Given the description of an element on the screen output the (x, y) to click on. 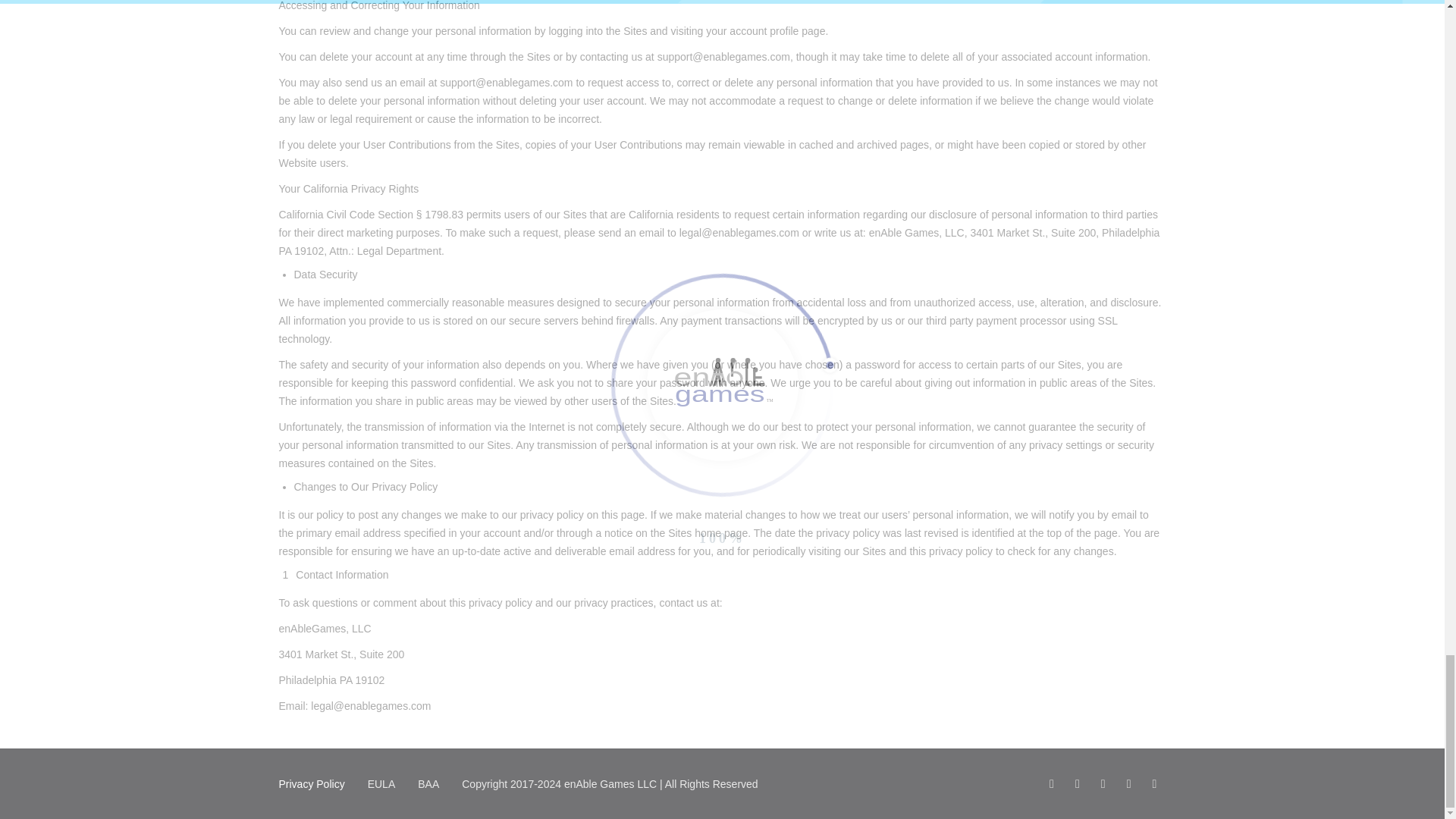
BAA (428, 784)
EULA (382, 784)
Privacy Policy (312, 784)
